Given the description of an element on the screen output the (x, y) to click on. 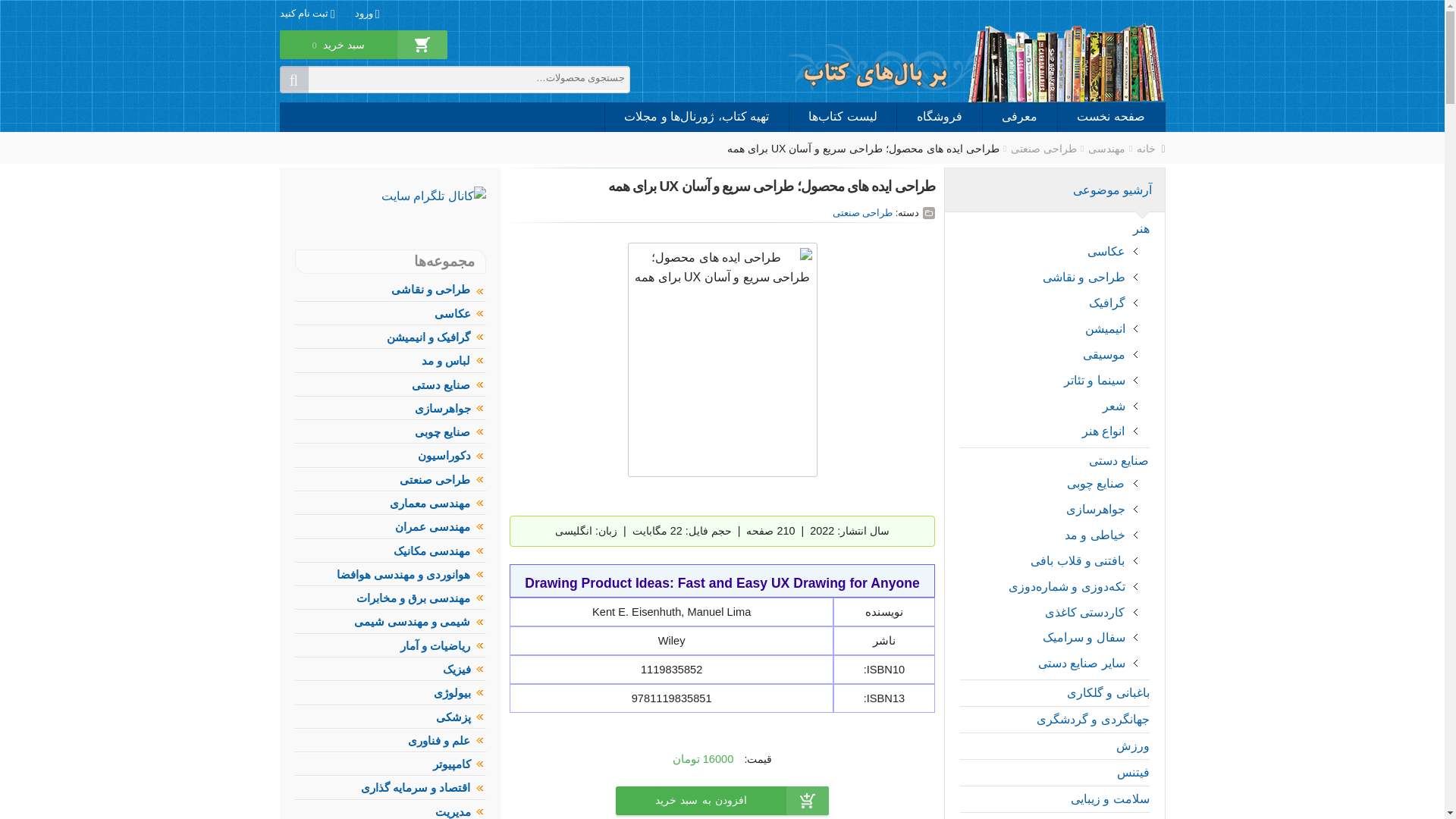
View your shopping cart (339, 54)
